Given the description of an element on the screen output the (x, y) to click on. 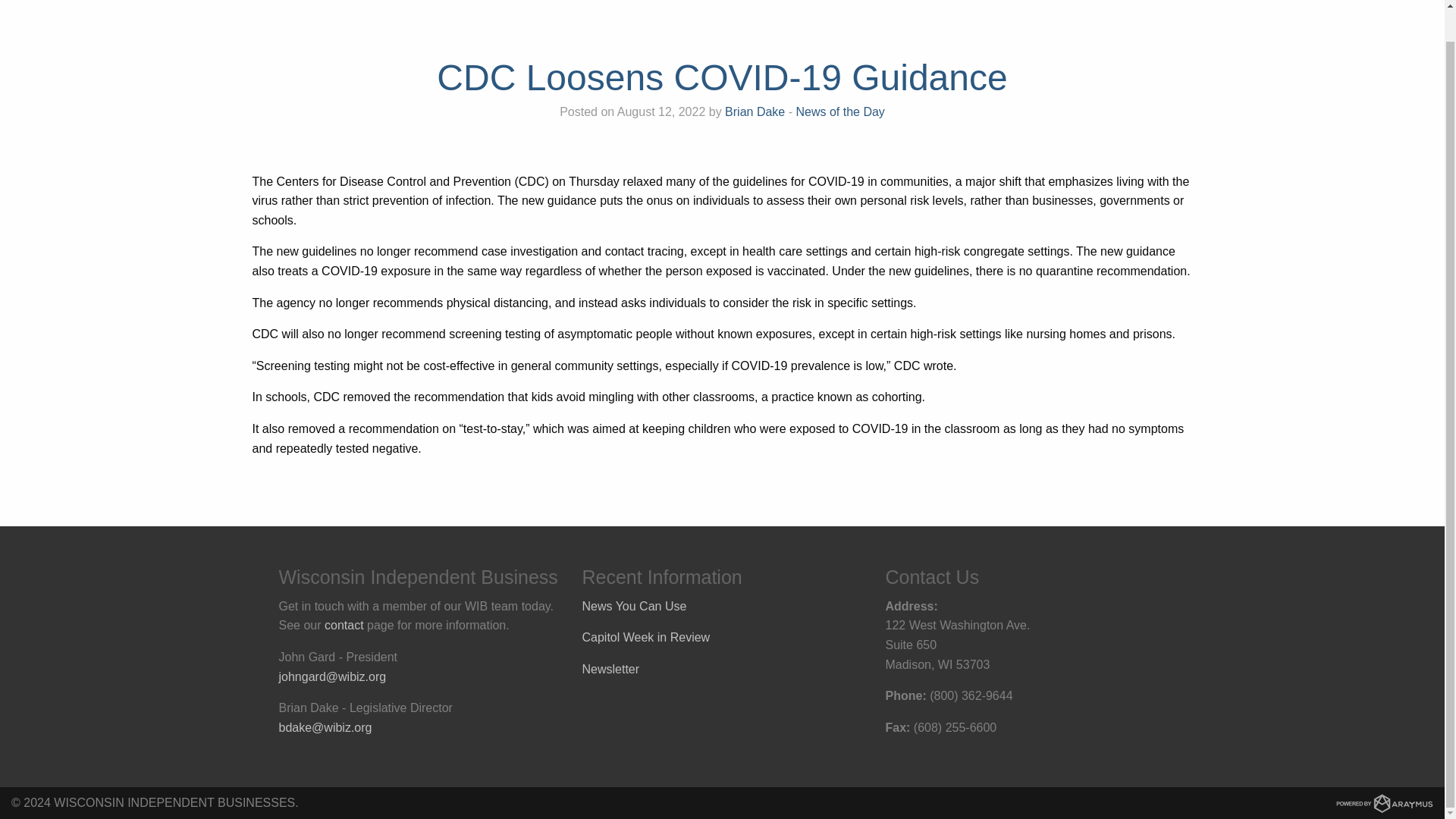
Newsletter (611, 668)
News of the Day (838, 111)
About WIB (907, 4)
contact (344, 625)
News You Can Use (634, 605)
Ask the Cybersecurity Expert (1161, 4)
Capitol Week in Review (646, 636)
Posts by Brian Dake (754, 111)
Brian Dake (754, 111)
Affinity Health Plan (1315, 4)
